Given the description of an element on the screen output the (x, y) to click on. 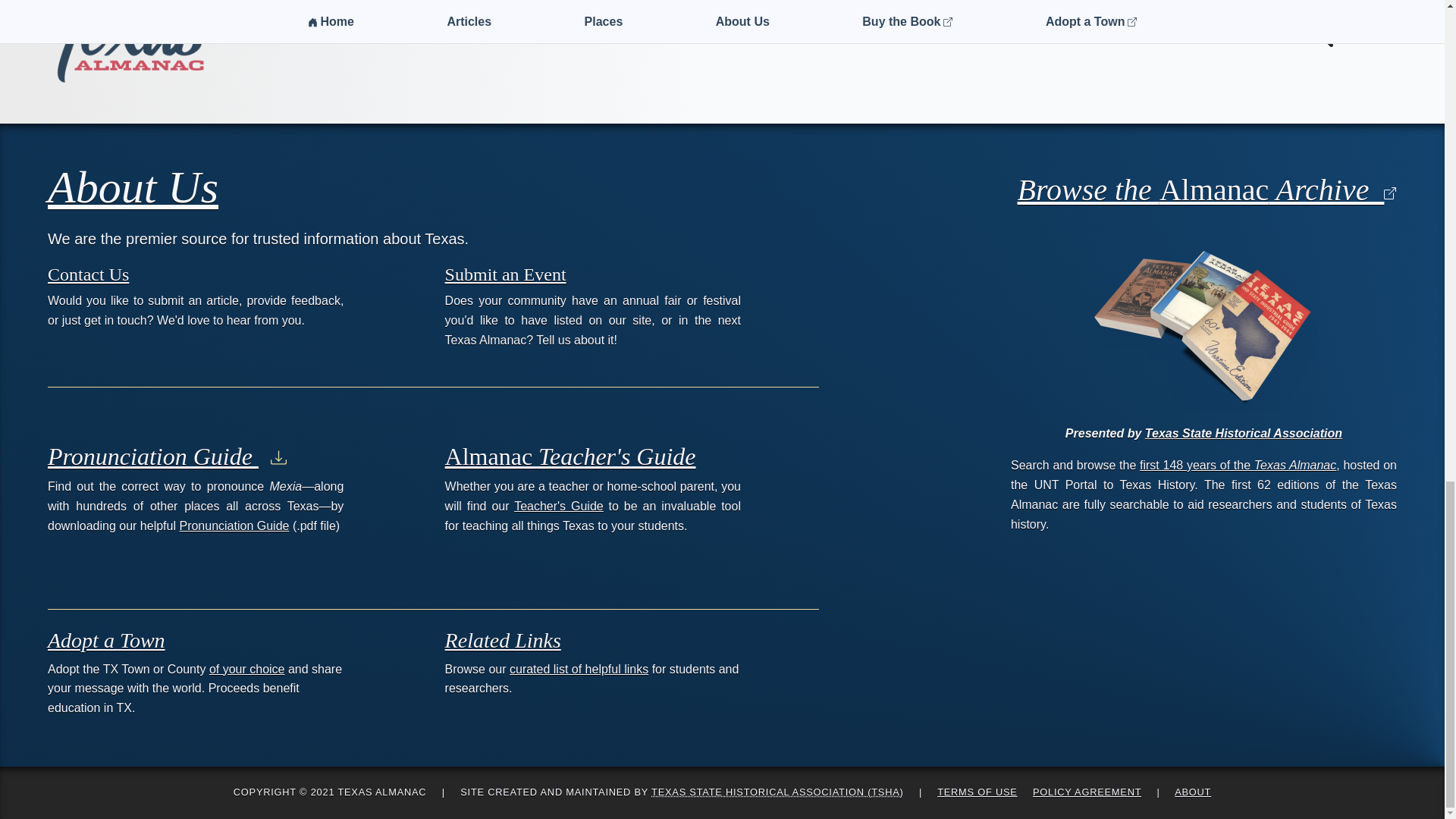
About Us (133, 187)
Pronunciation Guide (233, 525)
Pronunciation Guide (167, 456)
Teacher's Guide (558, 505)
Contact Us (88, 273)
Almanac Teacher's Guide (570, 456)
Submit an Event (505, 273)
Adopt a Town (106, 639)
Site Search (1352, 32)
